Given the description of an element on the screen output the (x, y) to click on. 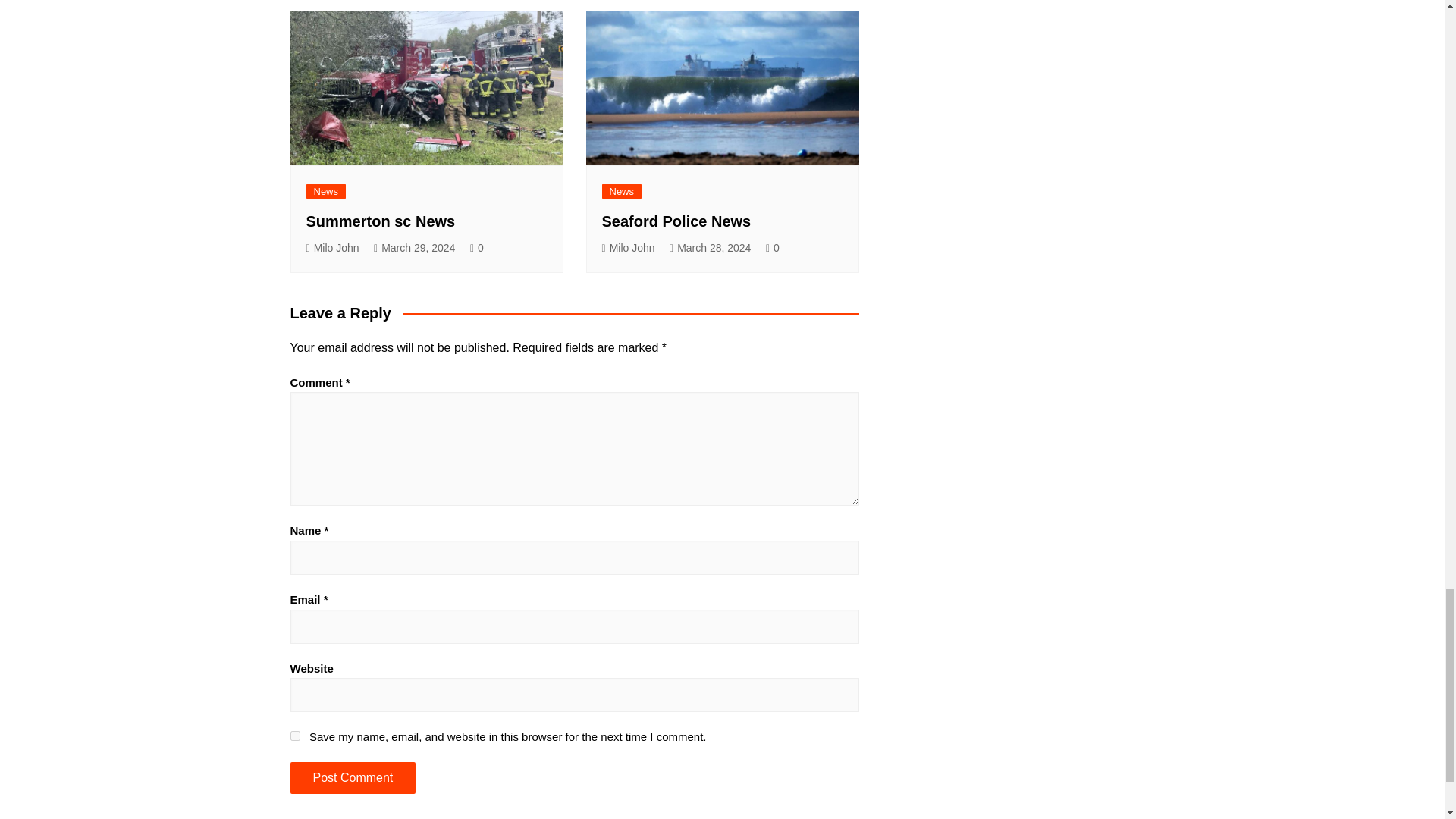
Post Comment (351, 777)
yes (294, 736)
